Given the description of an element on the screen output the (x, y) to click on. 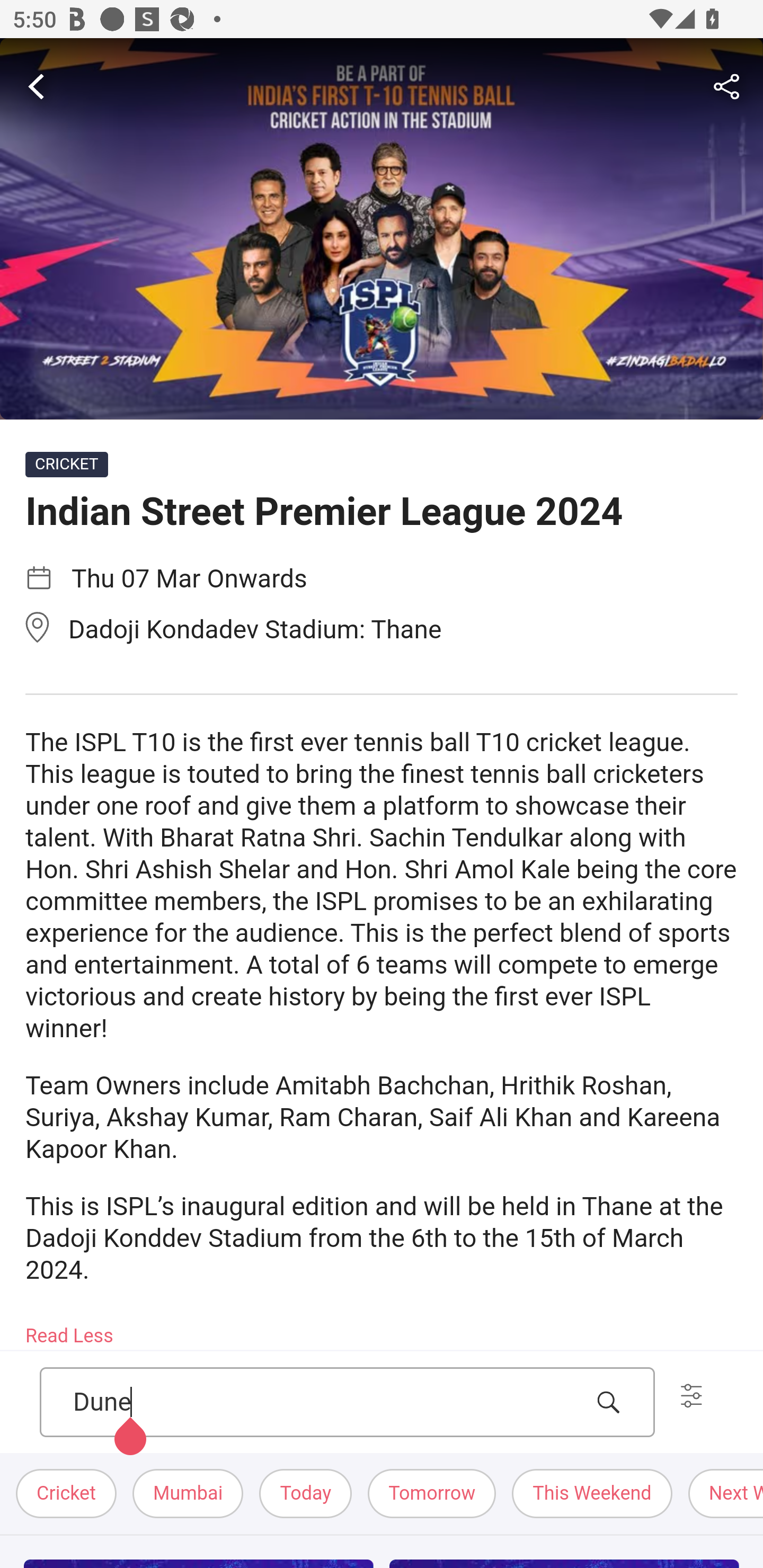
Indian Street Premier League 2024 (381, 228)
Read Less (69, 1329)
Dune (327, 1402)
Cricket (66, 1493)
Mumbai (187, 1493)
Today (305, 1493)
Tomorrow (432, 1493)
This Weekend (591, 1493)
